Given the description of an element on the screen output the (x, y) to click on. 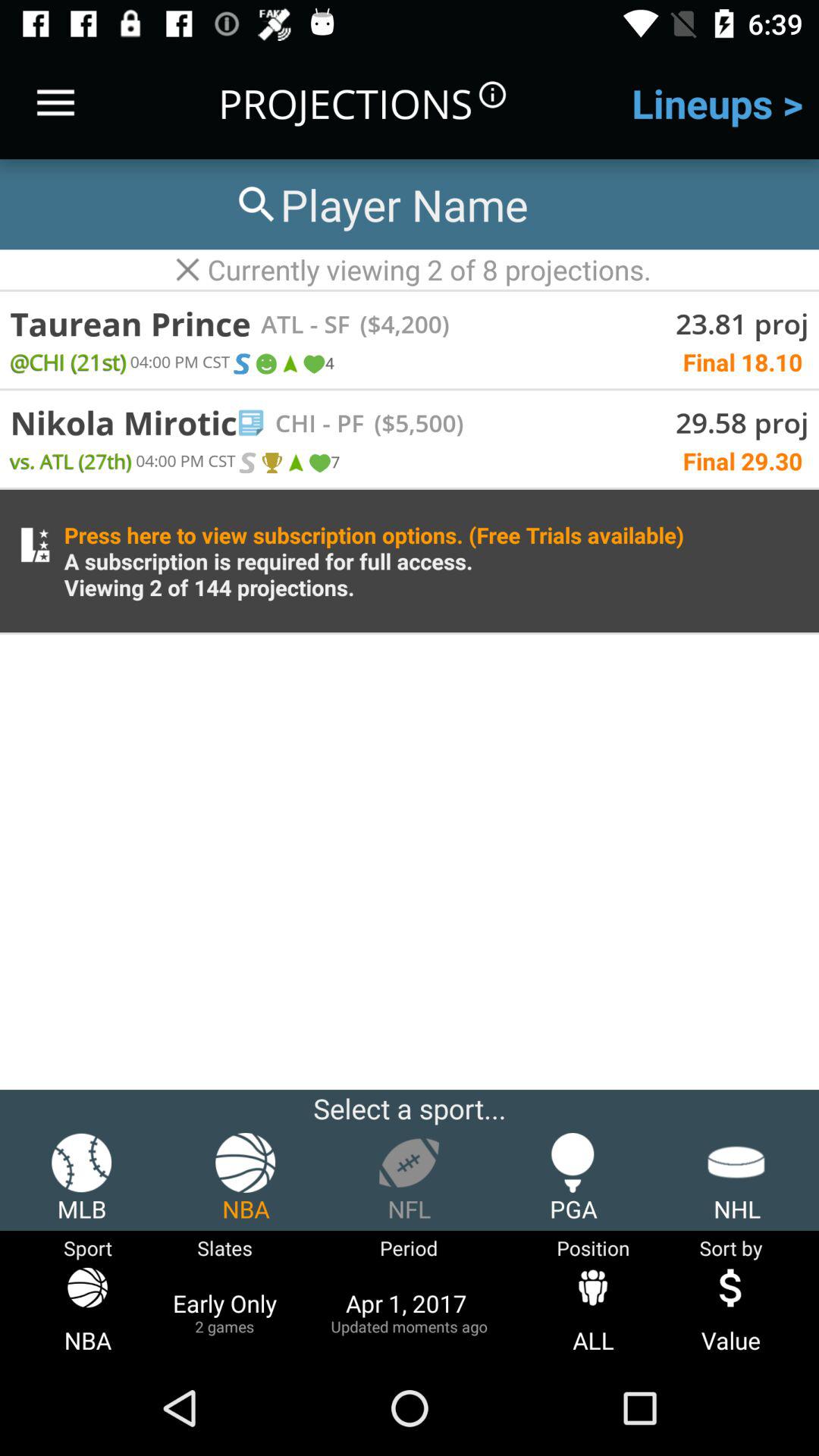
enter a player name (380, 204)
